Given the description of an element on the screen output the (x, y) to click on. 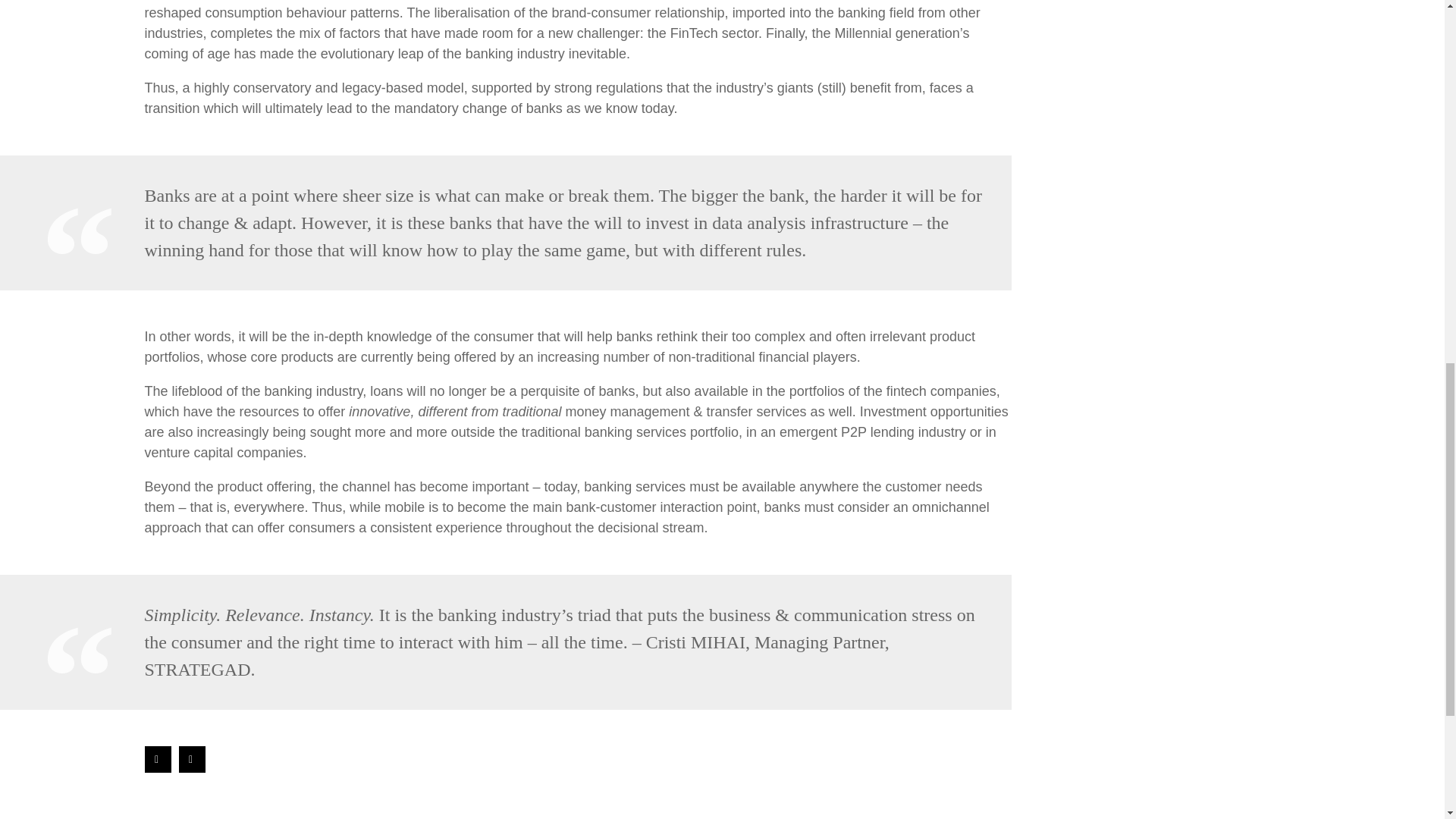
Share on Twitter (192, 759)
Share on Facebook (157, 759)
